Given the description of an element on the screen output the (x, y) to click on. 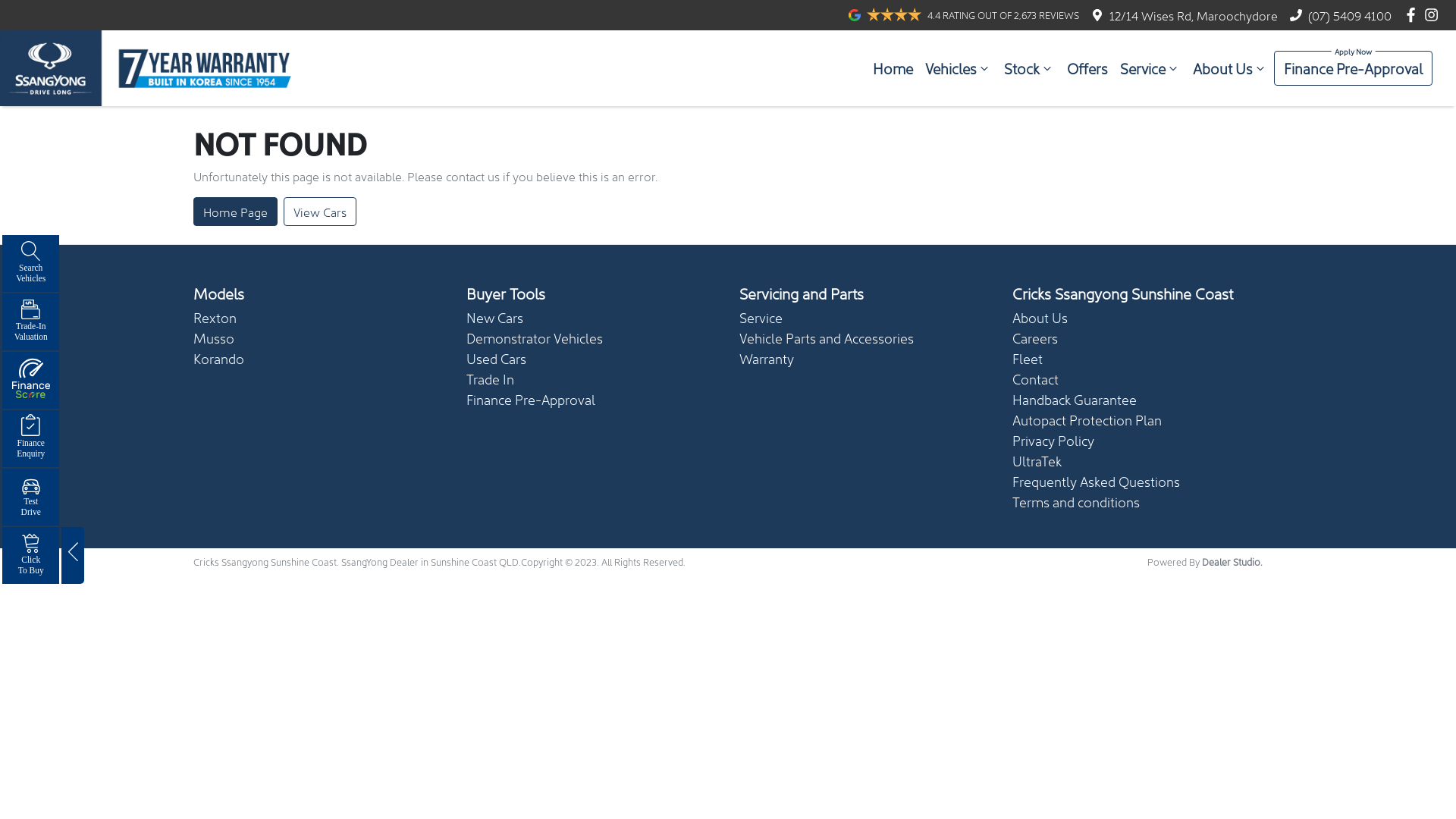
Finance Pre-Approval Element type: text (1353, 68)
Vehicle Parts and Accessories Element type: text (826, 337)
Frequently Asked Questions Element type: text (1095, 480)
Stock Element type: text (1028, 68)
About Us Element type: text (1230, 68)
Handback Guarantee Element type: text (1074, 398)
About Us Element type: text (1039, 316)
Musso Element type: text (213, 337)
Fleet Element type: text (1027, 357)
Search
Vehicles Element type: text (30, 263)
Autopact Protection Plan Element type: text (1086, 419)
Rexton Element type: text (214, 316)
Click
To Buy Element type: text (30, 555)
UltraTek Element type: text (1036, 460)
Terms and conditions Element type: text (1075, 501)
Vehicles Element type: text (958, 68)
Dealer Studio. Element type: text (1231, 561)
New Cars Element type: text (494, 316)
Trade-In
Valuation Element type: text (30, 321)
Used Cars Element type: text (496, 357)
Demonstrator Vehicles Element type: text (534, 337)
Privacy Policy Element type: text (1053, 439)
Warranty Element type: text (766, 357)
Home Element type: text (892, 68)
Contact Element type: text (1035, 378)
Offers Element type: text (1086, 68)
Careers Element type: text (1034, 337)
Finance Pre-Approval Element type: text (530, 398)
Trade In Element type: text (490, 378)
Test
Drive Element type: text (30, 496)
View Cars Element type: text (319, 211)
12/14 Wises Rd, Maroochydore Element type: text (1193, 14)
Service Element type: text (760, 316)
Korando Element type: text (218, 357)
Home Page Element type: text (235, 211)
(07) 5409 4100 Element type: text (1349, 14)
Finance
Enquiry Element type: text (30, 438)
Service Element type: text (1149, 68)
